Given the description of an element on the screen output the (x, y) to click on. 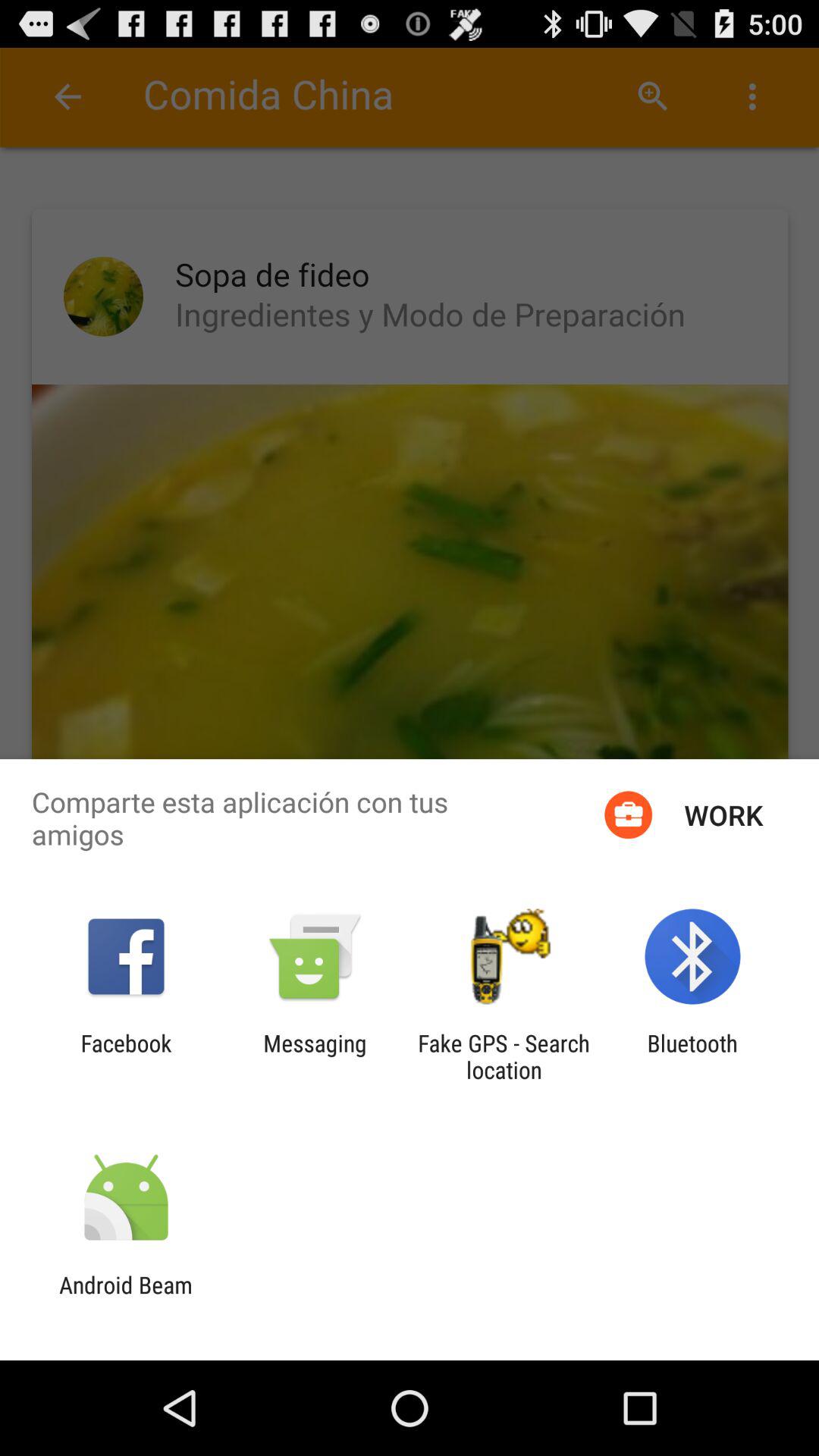
tap the app to the right of the fake gps search (692, 1056)
